Given the description of an element on the screen output the (x, y) to click on. 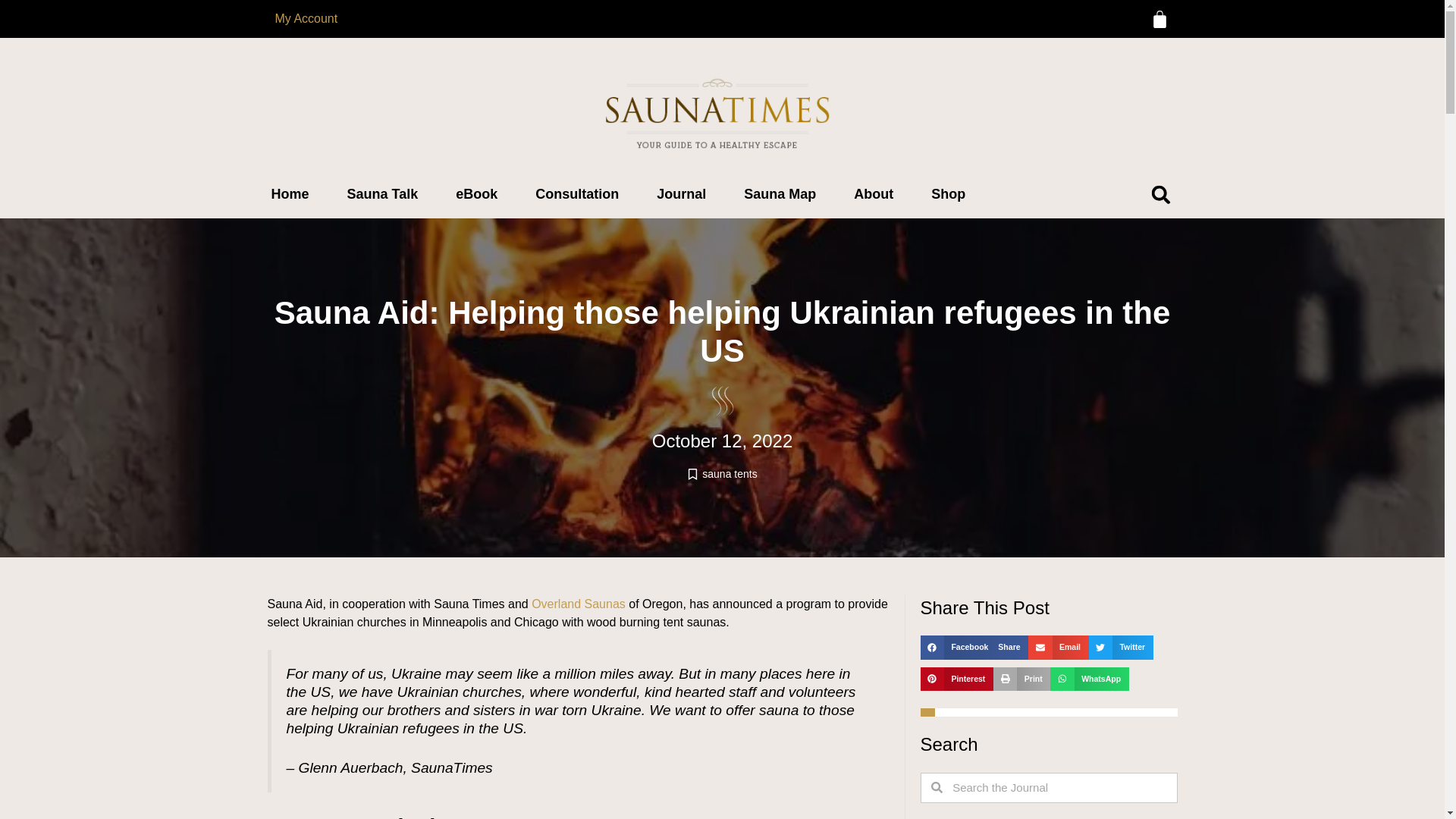
Sauna Map (779, 194)
eBook (475, 194)
Sauna Talk (382, 194)
My Account (306, 18)
Consultation (577, 194)
Journal (681, 194)
Home (289, 194)
About (873, 194)
